Given the description of an element on the screen output the (x, y) to click on. 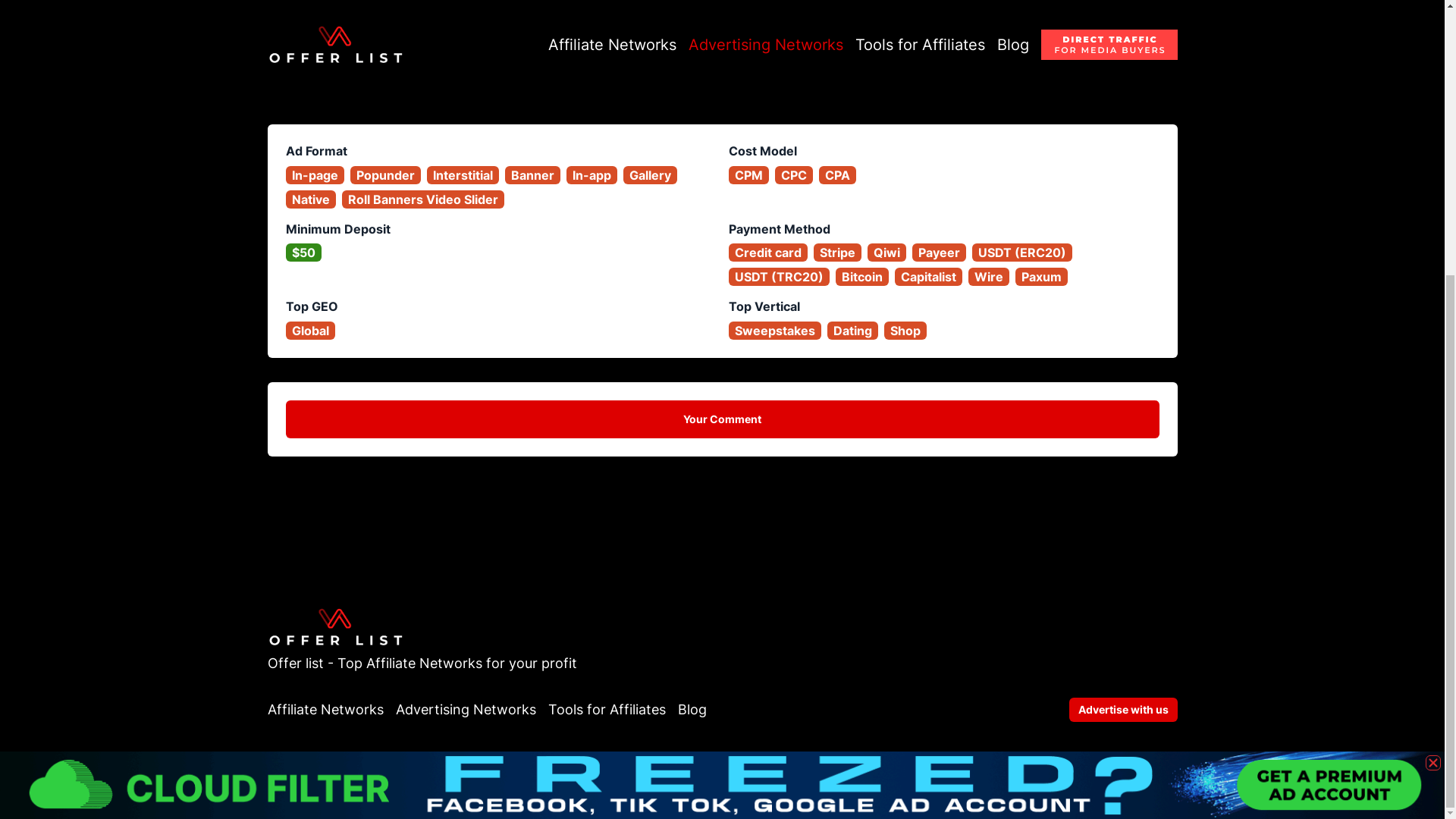
Blog (692, 709)
Affiliate Networks (324, 709)
Advertising Networks (465, 709)
Tools for Affiliates (606, 709)
Advertise with us (1122, 709)
